Given the description of an element on the screen output the (x, y) to click on. 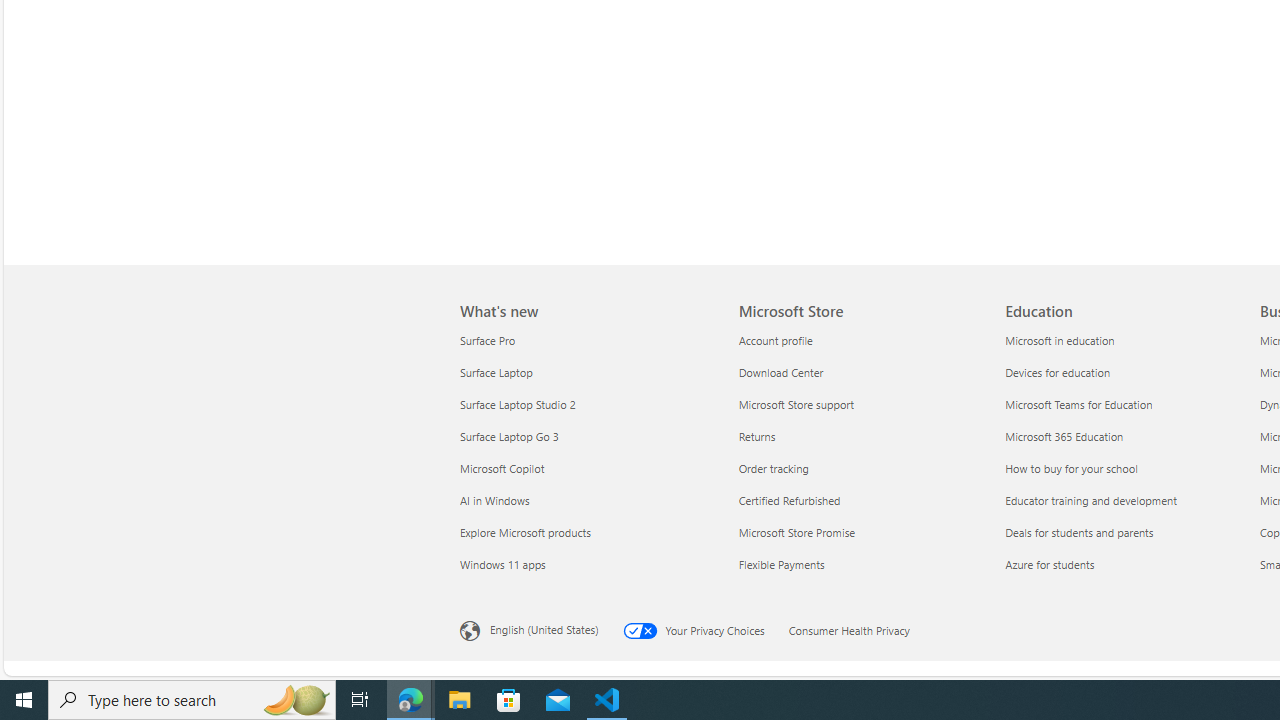
Microsoft Store Promise Microsoft Store (797, 532)
Download Center Microsoft Store (781, 372)
Flexible Payments (859, 564)
Microsoft Teams for Education (1126, 404)
Flexible Payments Microsoft Store (781, 563)
Microsoft Store Promise (859, 532)
Order tracking Microsoft Store (773, 467)
